Given the description of an element on the screen output the (x, y) to click on. 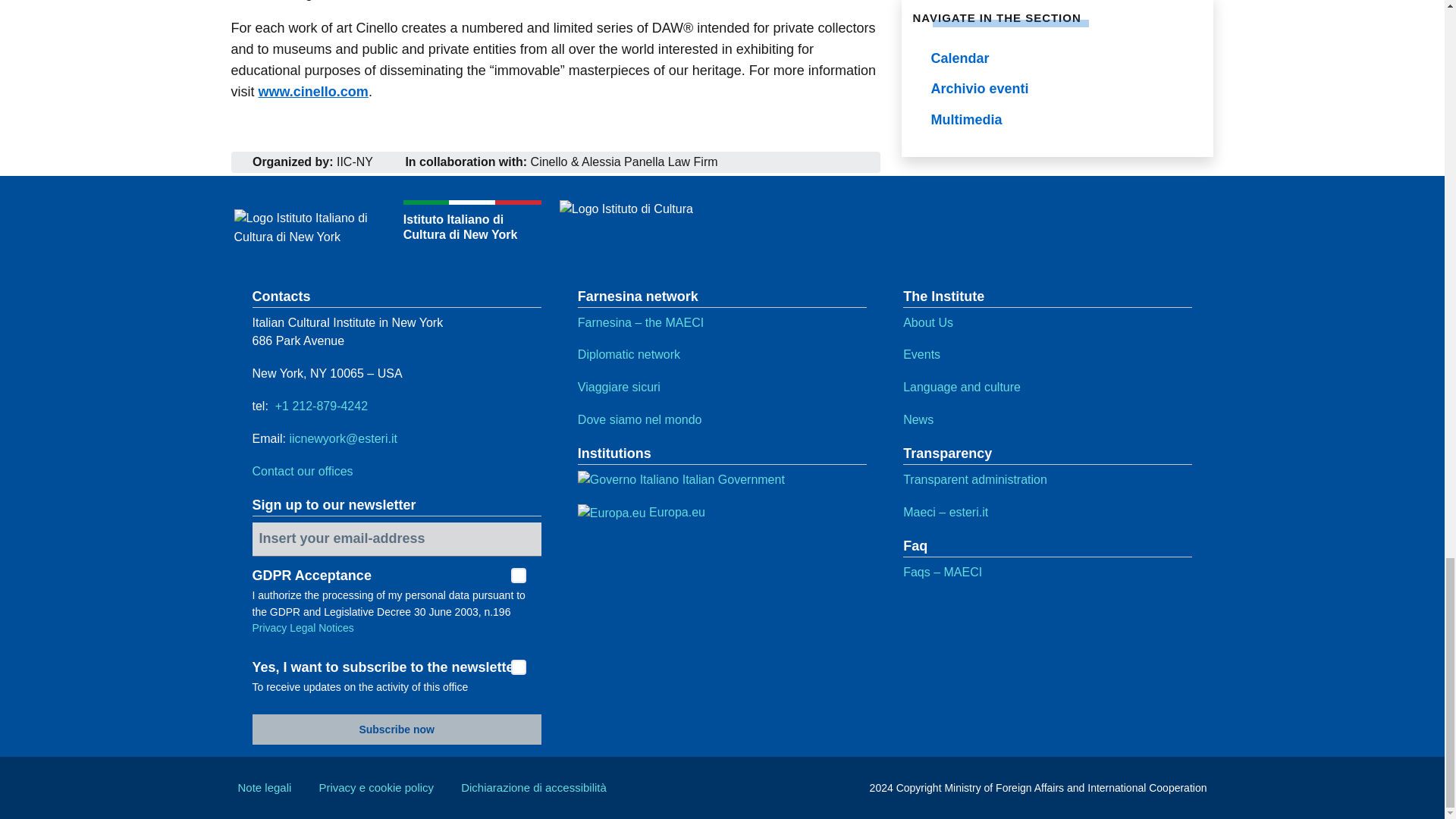
Istituto Italiano di Cultura di New York (395, 227)
Privacy (268, 627)
www.cinello.com (312, 91)
Go to the Privacy Policy page (268, 627)
Contact our offices (301, 471)
Subscribe now (395, 729)
Legal Notices (321, 627)
Go to the Legal Notice page (321, 627)
Contact our offices (301, 471)
Subscribe now (395, 729)
